Given the description of an element on the screen output the (x, y) to click on. 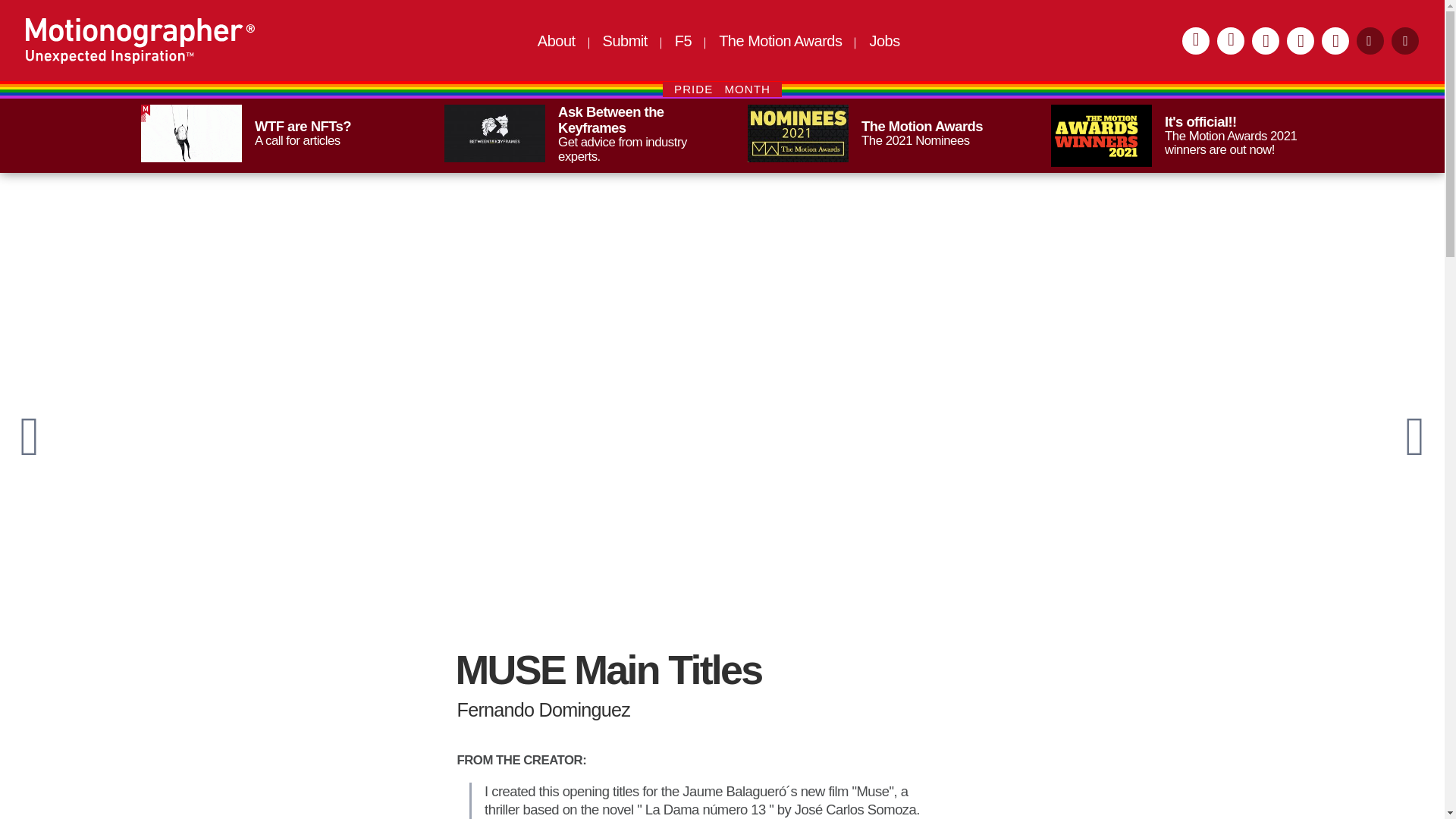
Motionographer Twitter Account (1335, 40)
Motionographer Instagram (1195, 40)
Fernando Dominguez (722, 710)
Motionographer Facebook Page (1300, 40)
About (556, 40)
F5 (683, 40)
Submit (1177, 135)
Jobs (624, 40)
Job Board (874, 132)
PRIDE MONTH (884, 40)
The Motion Awards (884, 40)
The Motion Awards (570, 133)
